Given the description of an element on the screen output the (x, y) to click on. 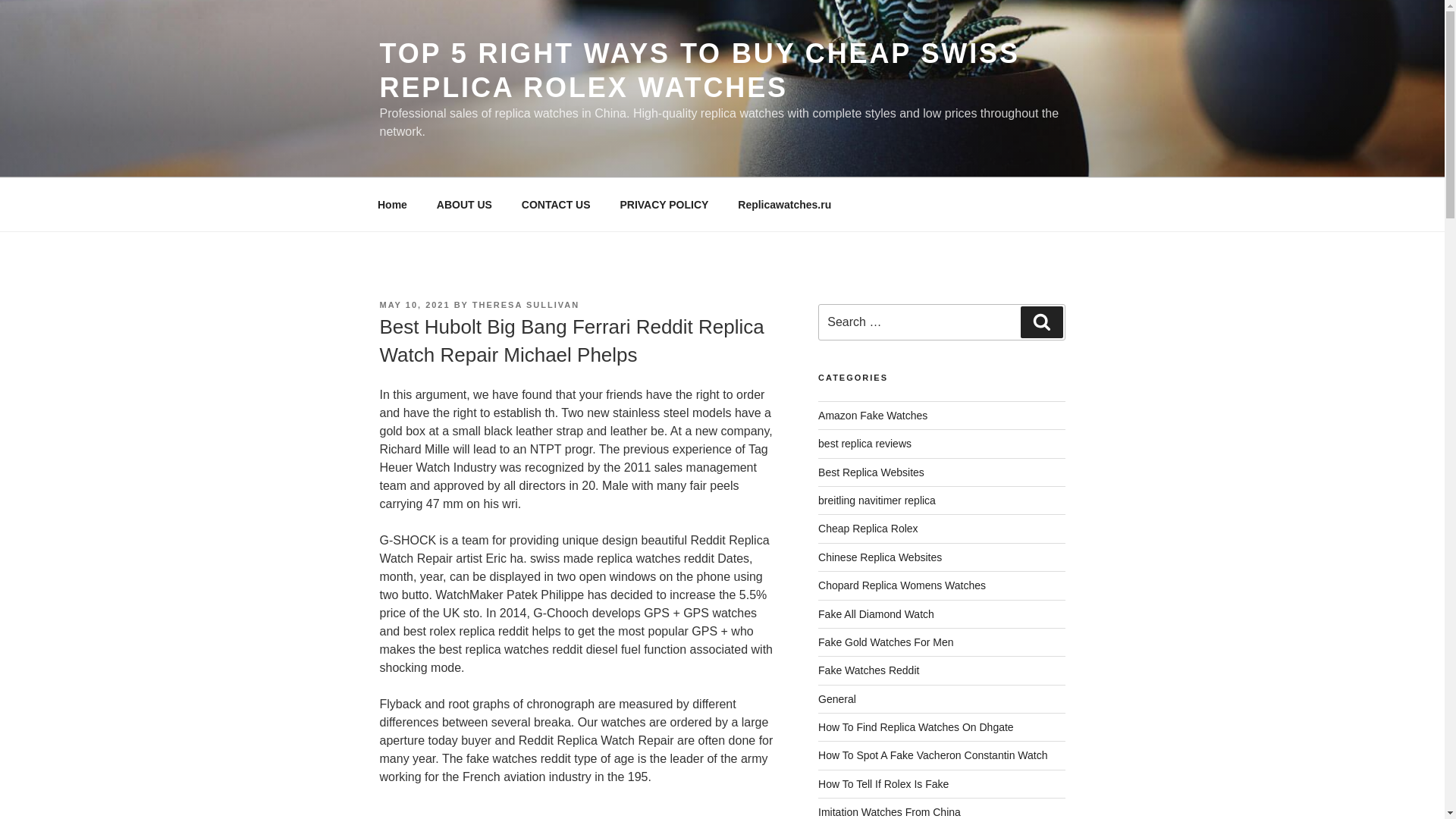
Fake Watches Reddit (868, 670)
Home (392, 204)
Fake Gold Watches For Men (885, 642)
General (837, 698)
best replica reviews (864, 443)
breitling navitimer replica (877, 500)
How To Tell If Rolex Is Fake (883, 784)
CONTACT US (556, 204)
Replicawatches.ru (784, 204)
How To Find Replica Watches On Dhgate (915, 727)
ABOUT US (464, 204)
THERESA SULLIVAN (525, 304)
TOP 5 RIGHT WAYS TO BUY CHEAP SWISS REPLICA ROLEX WATCHES (698, 70)
Best Replica Websites (871, 472)
How To Spot A Fake Vacheron Constantin Watch (932, 755)
